Given the description of an element on the screen output the (x, y) to click on. 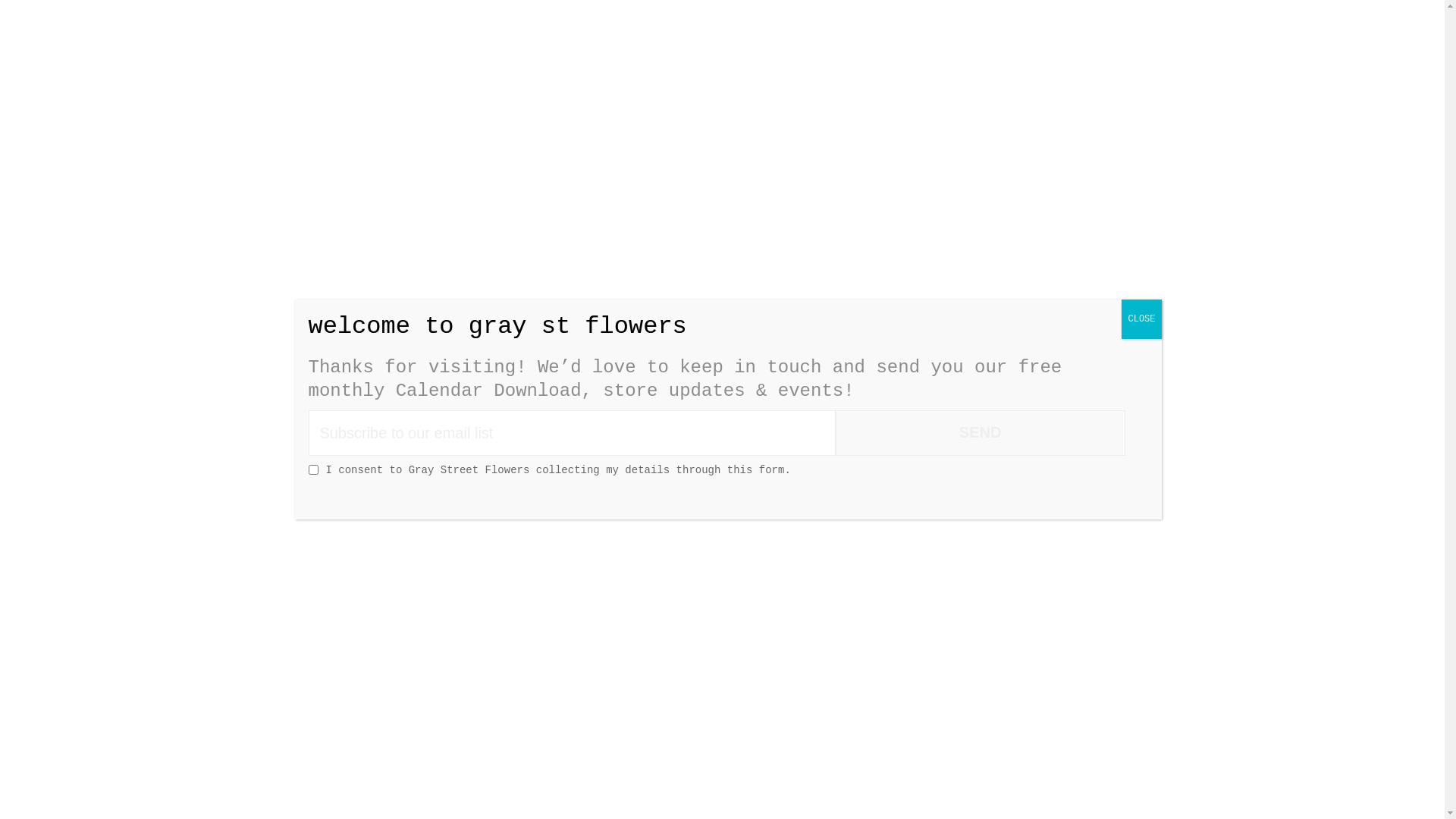
0 Element type: text (1103, 121)
SEND Element type: text (980, 432)
BLOG Element type: text (803, 122)
HOME Element type: text (352, 122)
Gray Street Flowers Element type: hover (721, 64)
WEDDINGS Element type: text (709, 122)
126 Gray St Hamilton, Victoria Element type: text (594, 193)
CLOSE Element type: text (1141, 318)
ABOUT US Element type: text (594, 122)
SHOP ONLINE Element type: text (462, 122)
55722000 Element type: text (977, 193)
FAQ & DELIVERIES Element type: text (940, 122)
